Given the description of an element on the screen output the (x, y) to click on. 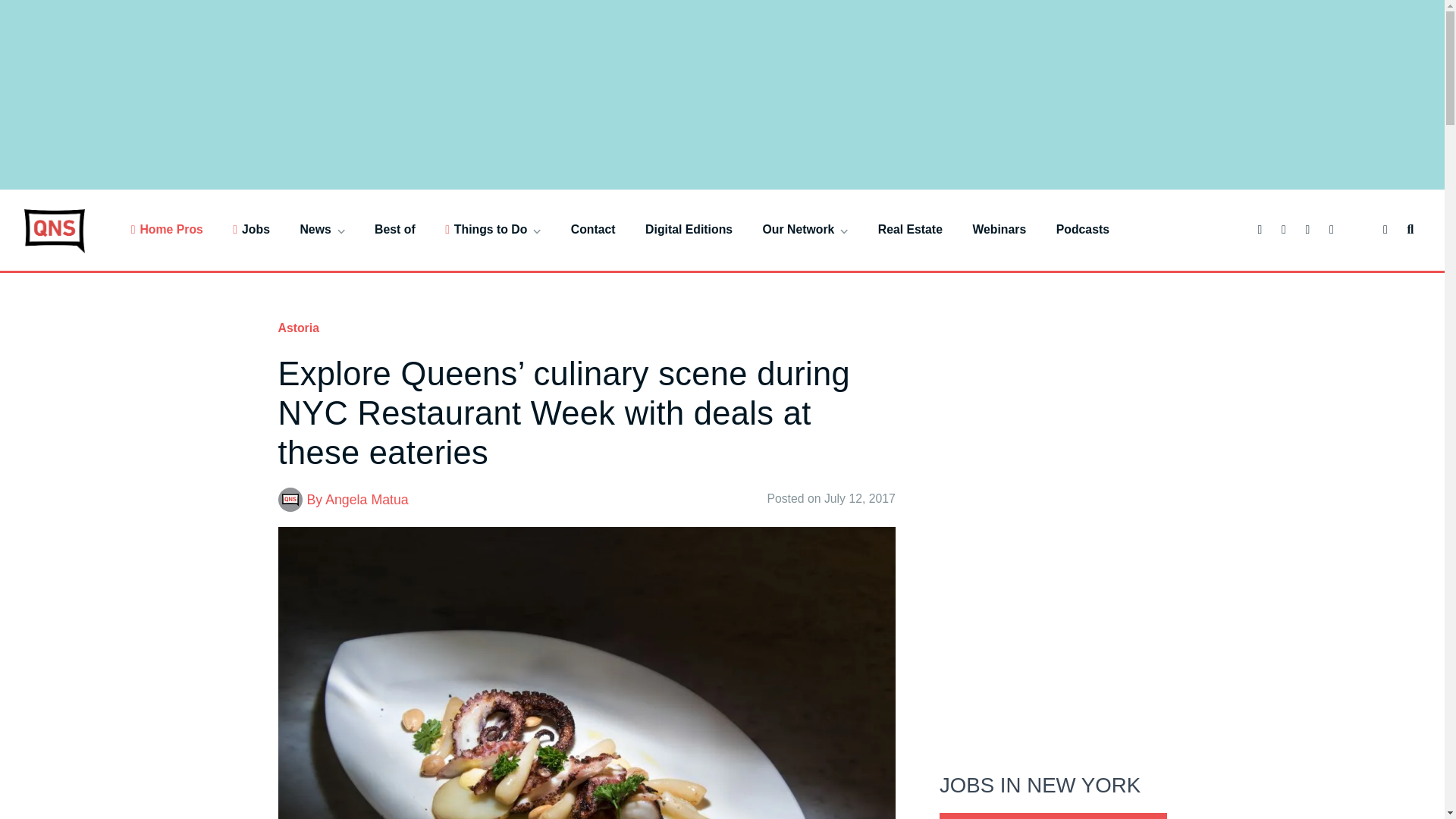
Best of (394, 228)
News (321, 228)
Podcasts (1083, 228)
Home Pros (167, 228)
Posts by Angela Matua (366, 499)
Webinars (999, 228)
Digital Editions (688, 228)
Real Estate (909, 228)
Things to Do (492, 228)
Contact (592, 228)
